Given the description of an element on the screen output the (x, y) to click on. 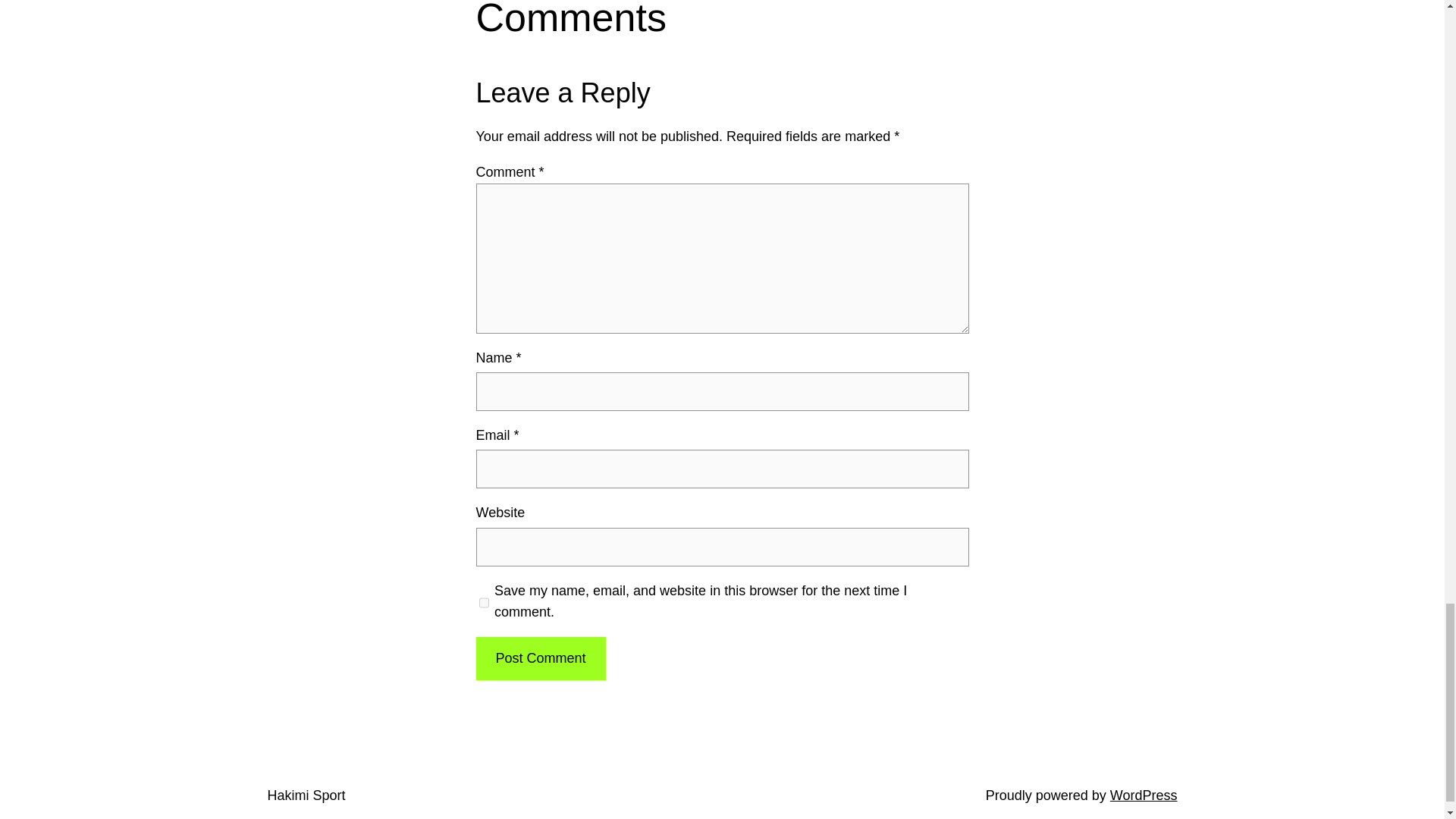
Post Comment (540, 658)
WordPress (1143, 795)
Post Comment (540, 658)
Hakimi Sport (305, 795)
